Given the description of an element on the screen output the (x, y) to click on. 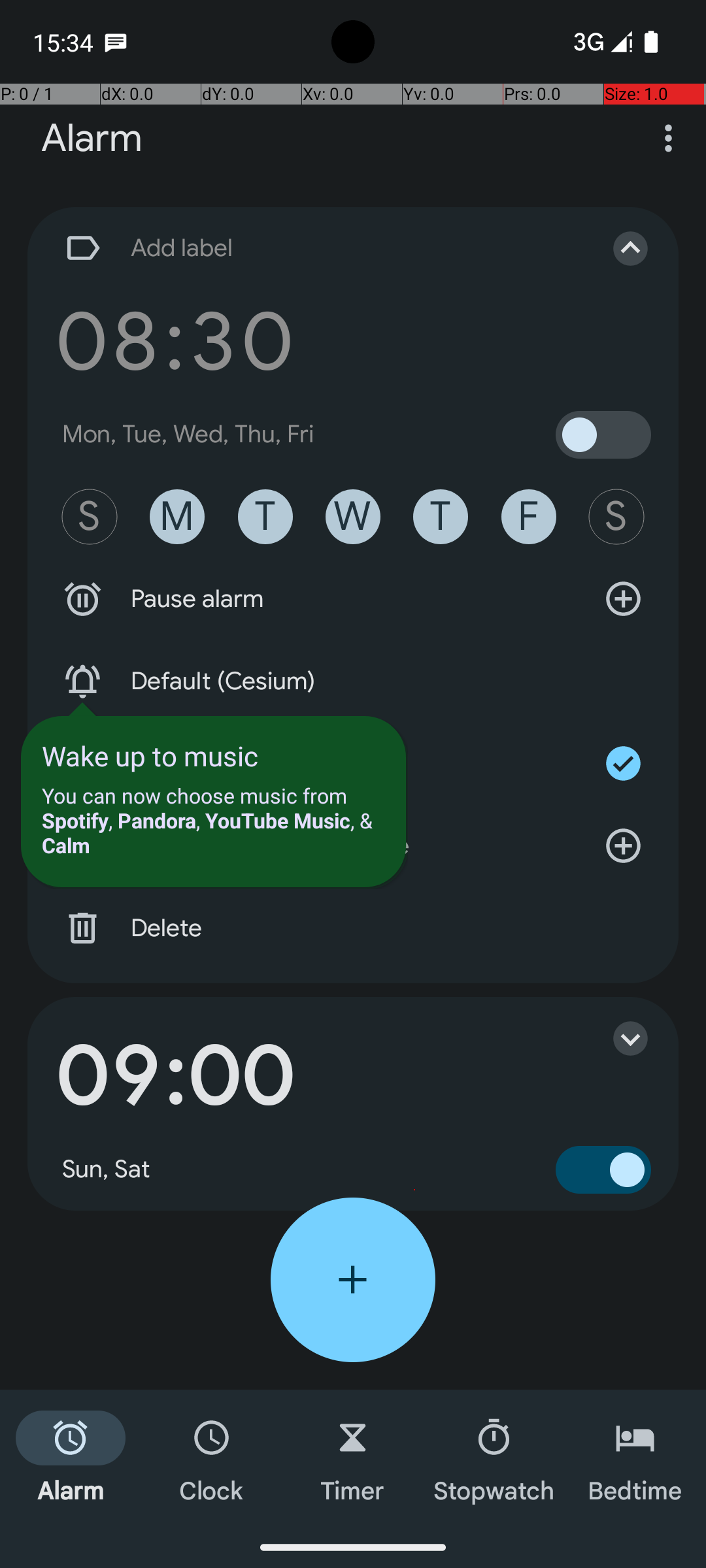
Add label Element type: android.widget.TextView (318, 248)
Collapse alarm Element type: android.widget.ImageButton (616, 248)
Pause alarm Element type: android.widget.TextView (352, 598)
Google Assistant Routine Element type: android.widget.TextView (352, 845)
Wake up to music Element type: android.widget.TextView (149, 755)
You can now choose music from Spotify, Pandora, YouTube Music, & Calm Element type: android.widget.TextView (213, 820)
